Given the description of an element on the screen output the (x, y) to click on. 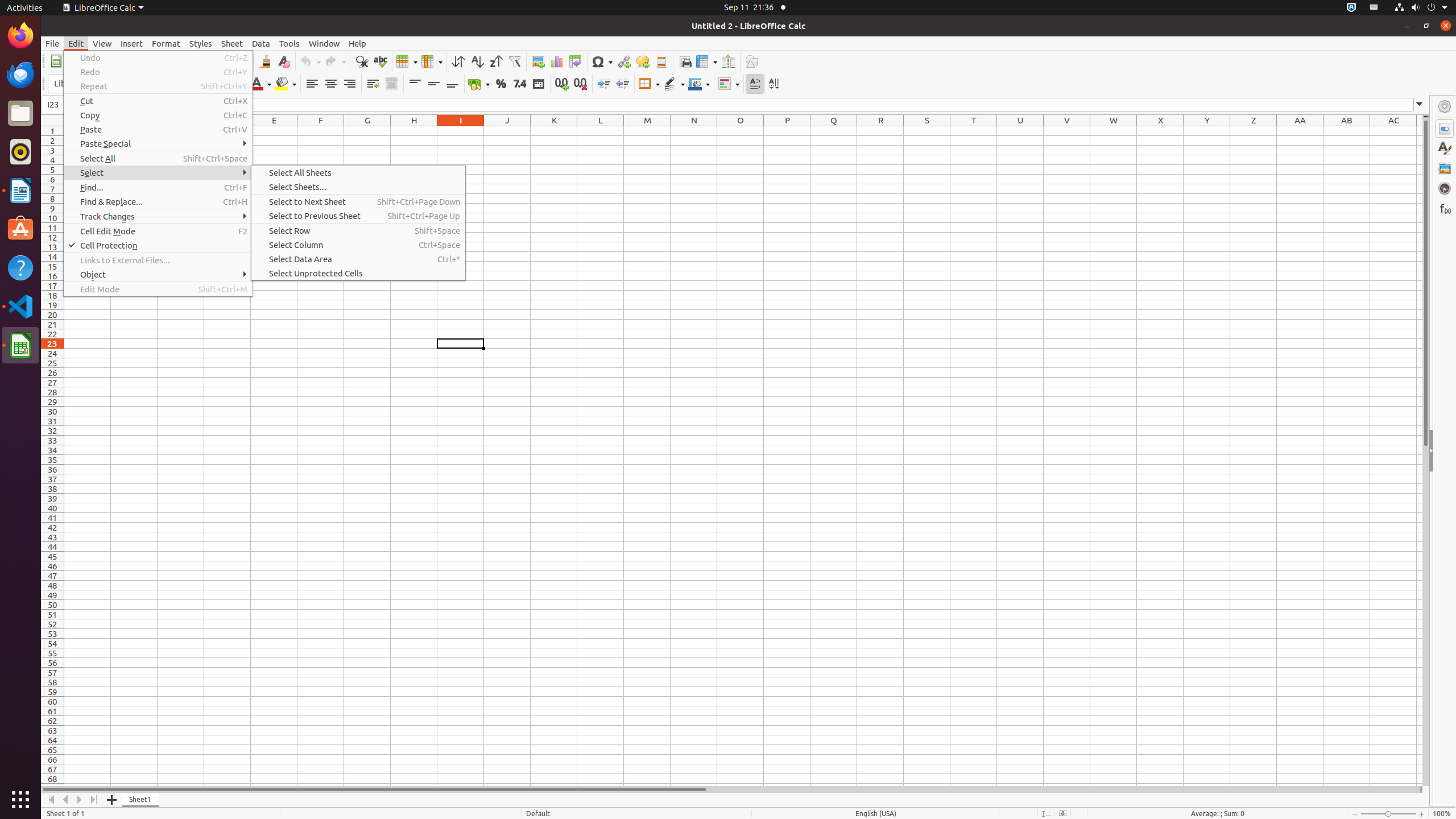
Text direction from top to bottom Element type: toggle-button (773, 83)
V1 Element type: table-cell (1066, 130)
Headers and Footers Element type: push-button (660, 61)
Copy Element type: menu-item (157, 115)
